Given the description of an element on the screen output the (x, y) to click on. 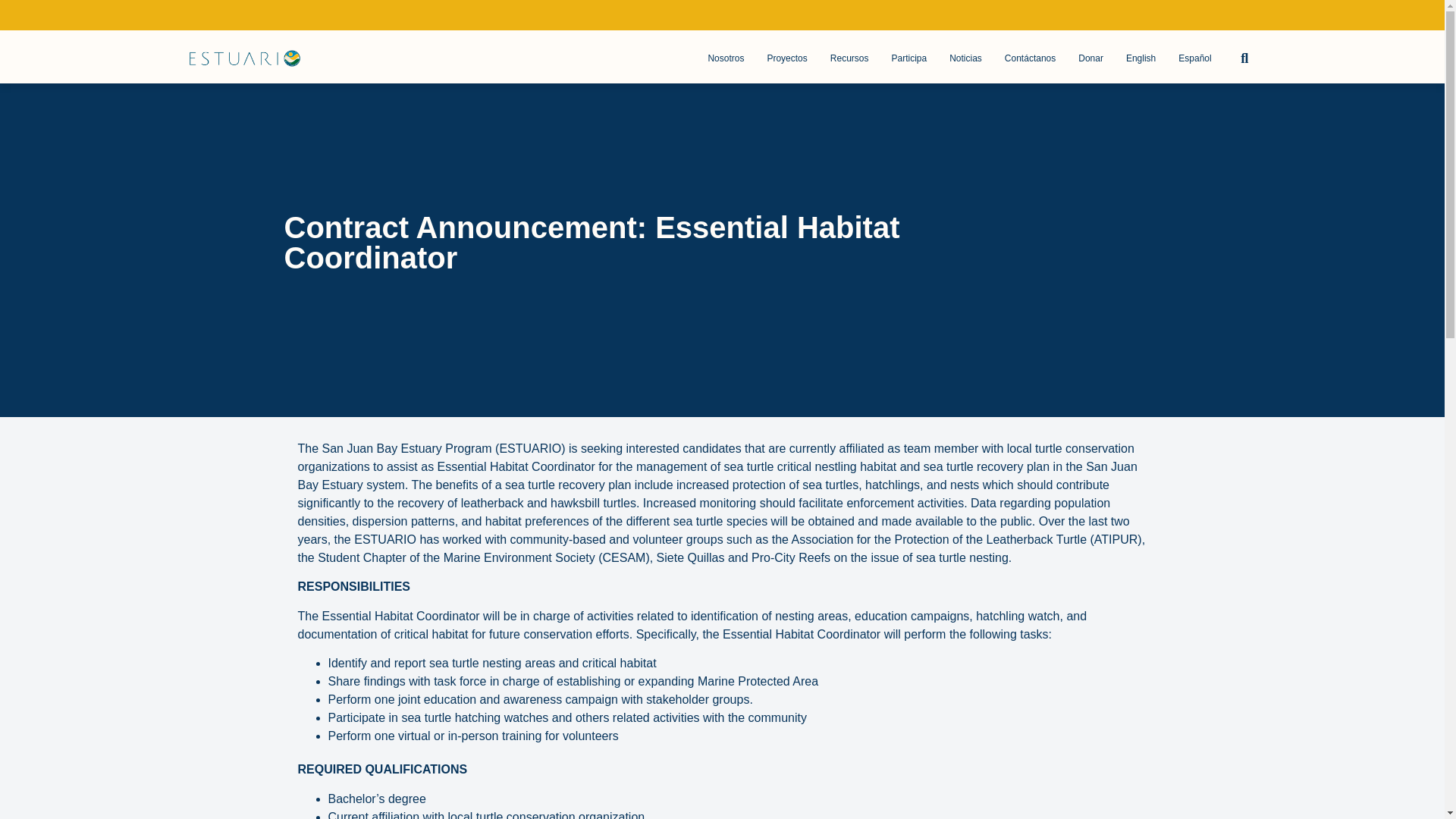
Recursos (849, 58)
Proyectos (786, 58)
Nosotros (725, 58)
